Given the description of an element on the screen output the (x, y) to click on. 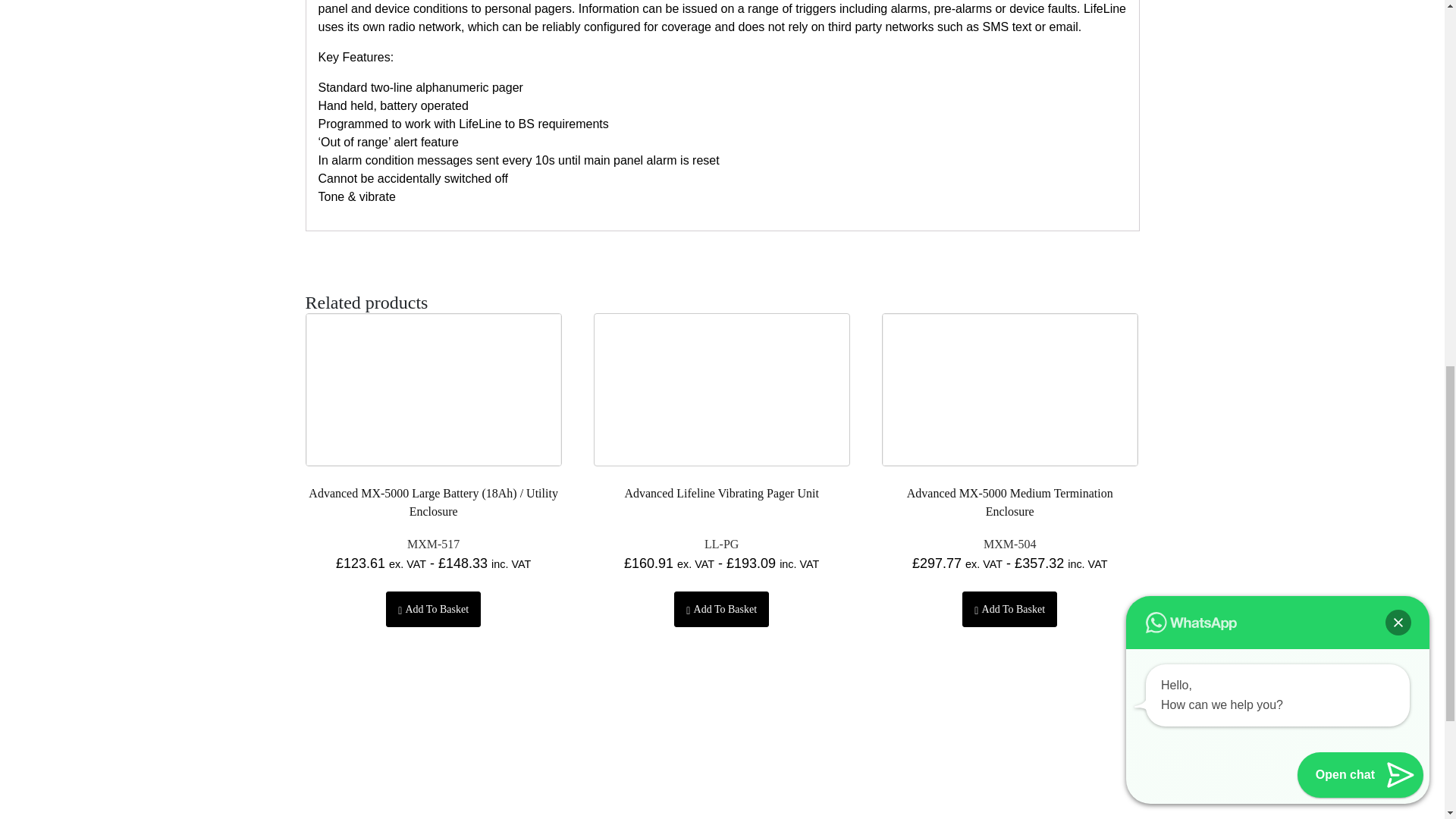
Trade Account Form (1317, 770)
The Fire Safety Shop (95, 770)
